Given the description of an element on the screen output the (x, y) to click on. 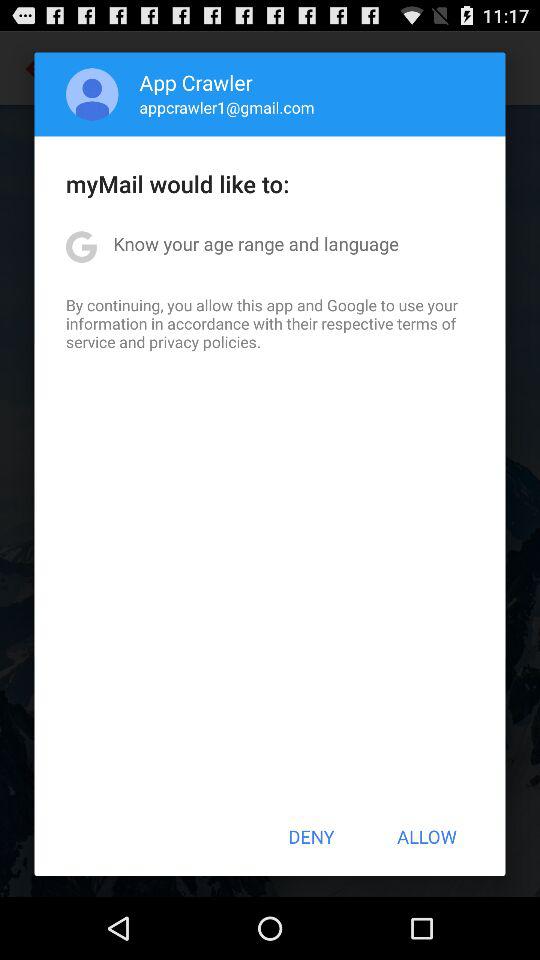
select item at the bottom (311, 836)
